Given the description of an element on the screen output the (x, y) to click on. 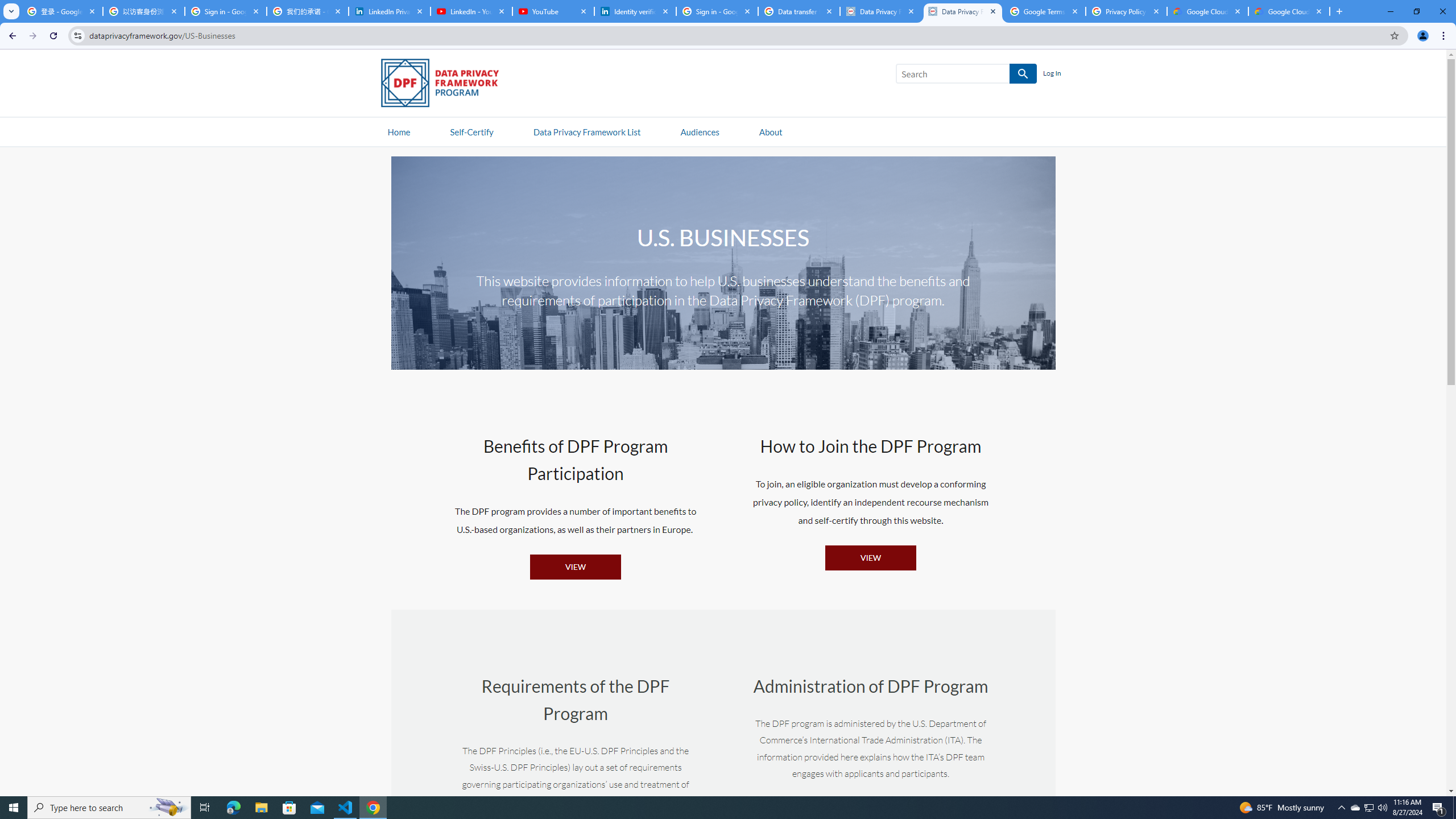
Data Privacy Framework (880, 11)
Data Privacy Framework (963, 11)
Data Privacy Framework Logo - Link to Homepage (445, 85)
Google Cloud Privacy Notice (1207, 11)
LinkedIn - YouTube (470, 11)
